Given the description of an element on the screen output the (x, y) to click on. 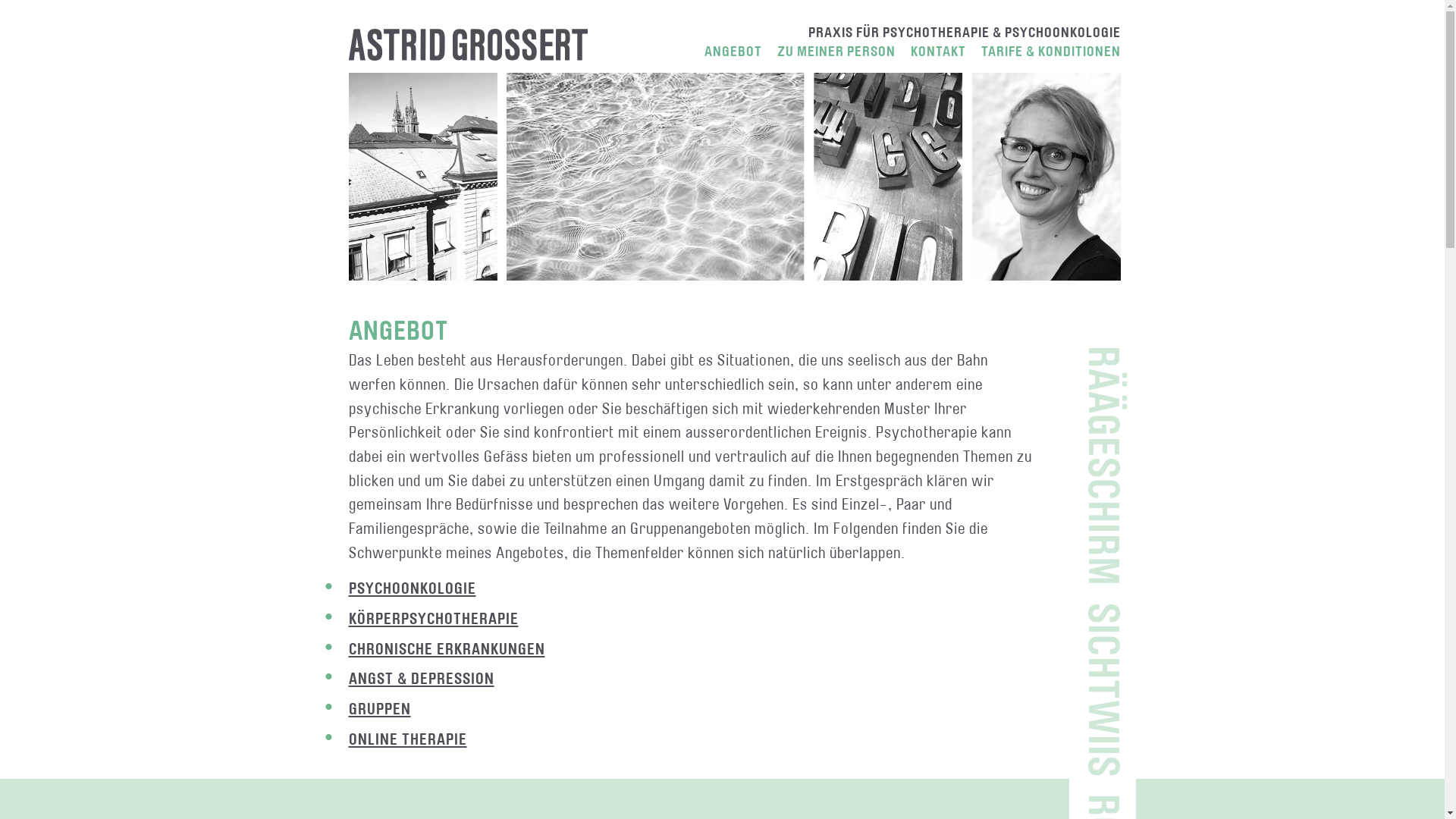
TARIFE & KONDITIONEN Element type: text (1050, 51)
ZU MEINER PERSON Element type: text (835, 51)
ANGEBOT Element type: text (732, 51)
KONTAKT Element type: text (937, 51)
